Given the description of an element on the screen output the (x, y) to click on. 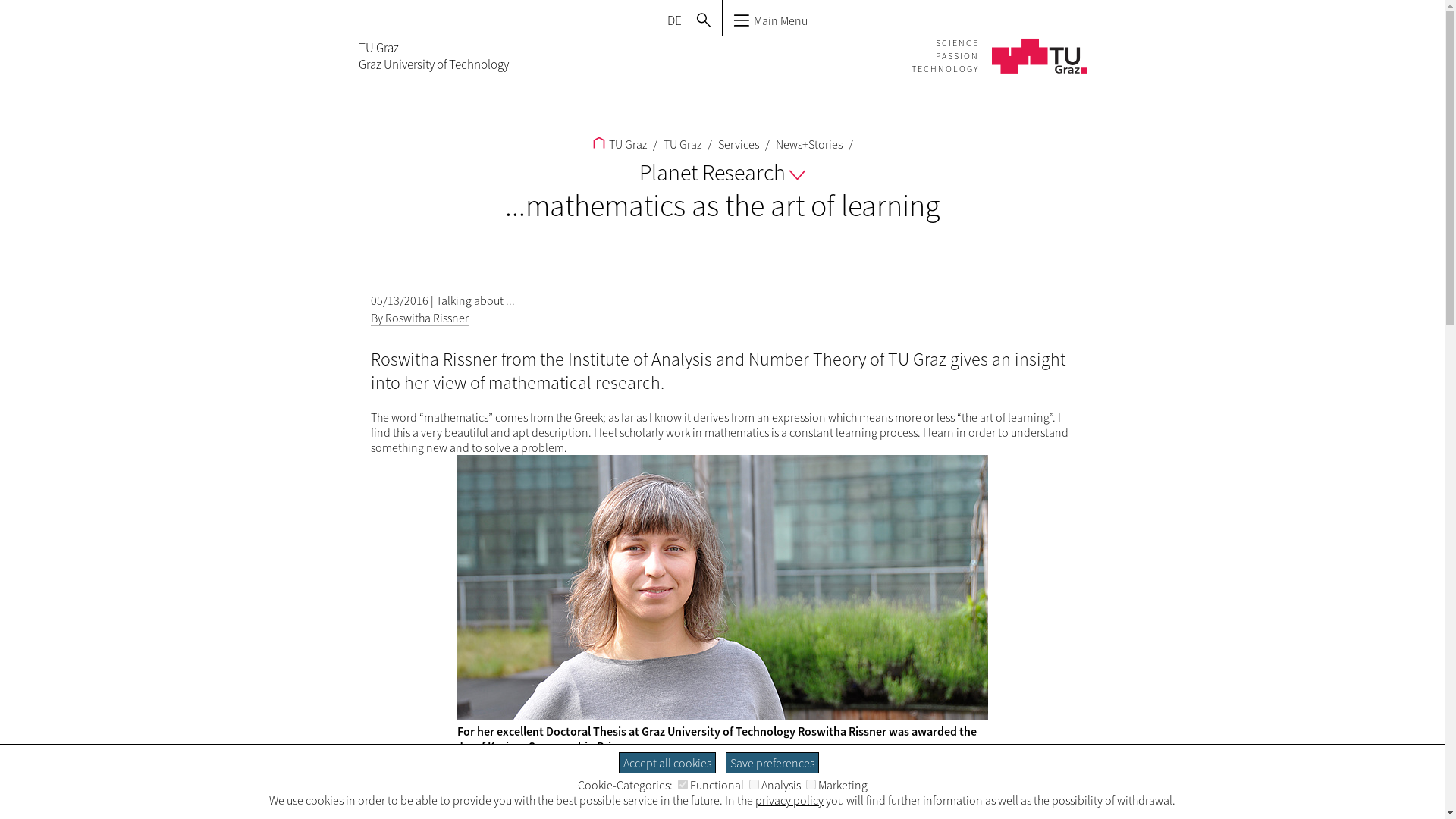
TU Graz Home (433, 55)
TU Graz Home (998, 43)
on (810, 784)
Auf Deutsch anzeigen (673, 20)
Search (702, 20)
on (753, 784)
on (682, 784)
